Given the description of an element on the screen output the (x, y) to click on. 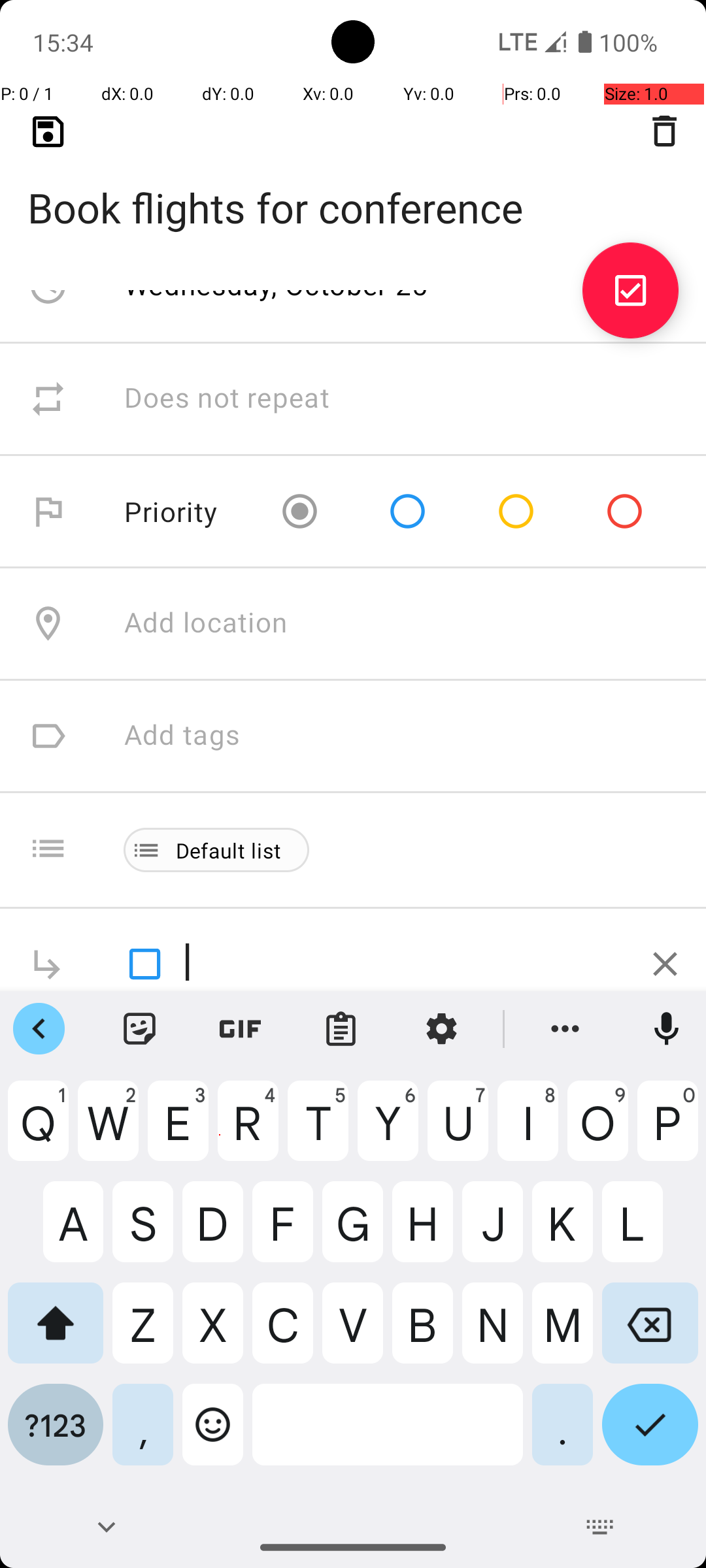
Book flights for conference Element type: android.widget.EditText (353, 186)
Wednesday, October 25 Element type: android.widget.TextView (276, 284)
